Given the description of an element on the screen output the (x, y) to click on. 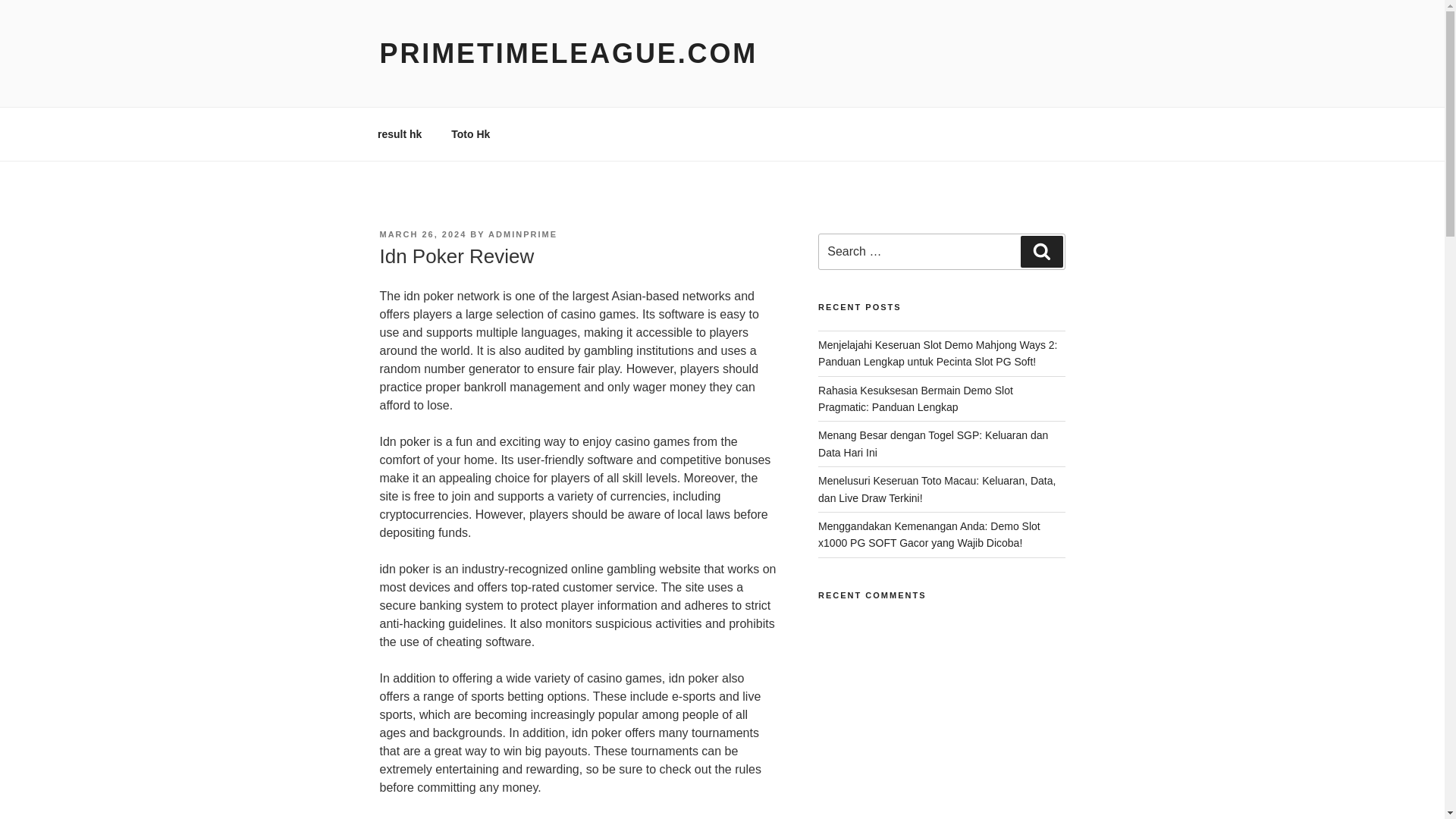
MARCH 26, 2024 (421, 234)
Search (1041, 251)
ADMINPRIME (522, 234)
PRIMETIMELEAGUE.COM (567, 52)
Menang Besar dengan Togel SGP: Keluaran dan Data Hari Ini (933, 443)
Toto Hk (470, 133)
result hk (398, 133)
